Given the description of an element on the screen output the (x, y) to click on. 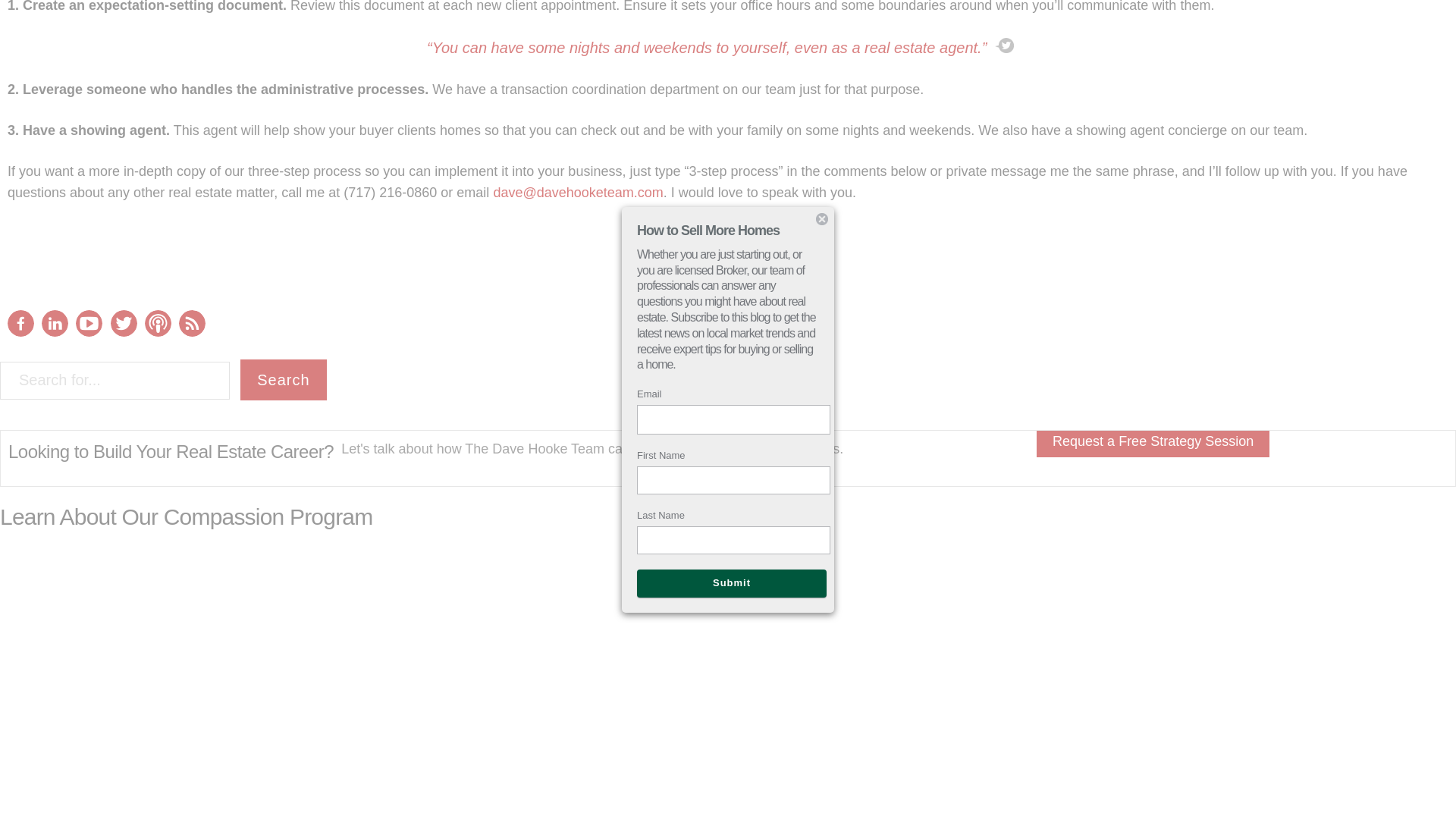
Share on Facebook (745, 278)
Facbook (20, 331)
YouTube (88, 331)
Podcast (157, 323)
Podcast (157, 331)
rss (192, 331)
search (283, 379)
Facbook (20, 323)
Twitter (123, 323)
Share on Twitter (710, 278)
YouTube (88, 323)
Linkedin (55, 331)
rss (192, 323)
Twitter (123, 331)
Linkedin (55, 323)
